Given the description of an element on the screen output the (x, y) to click on. 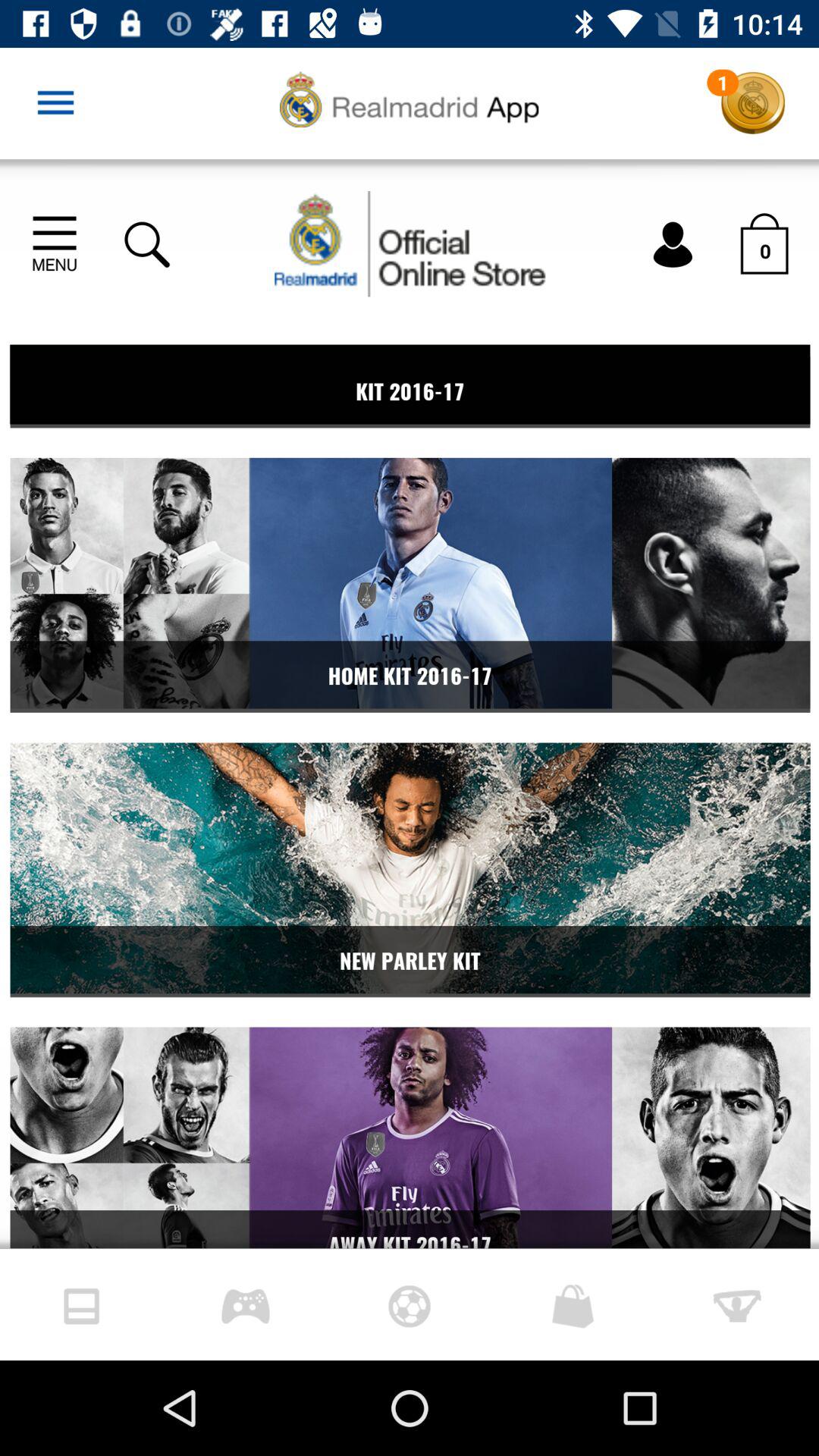
app page (409, 703)
